Given the description of an element on the screen output the (x, y) to click on. 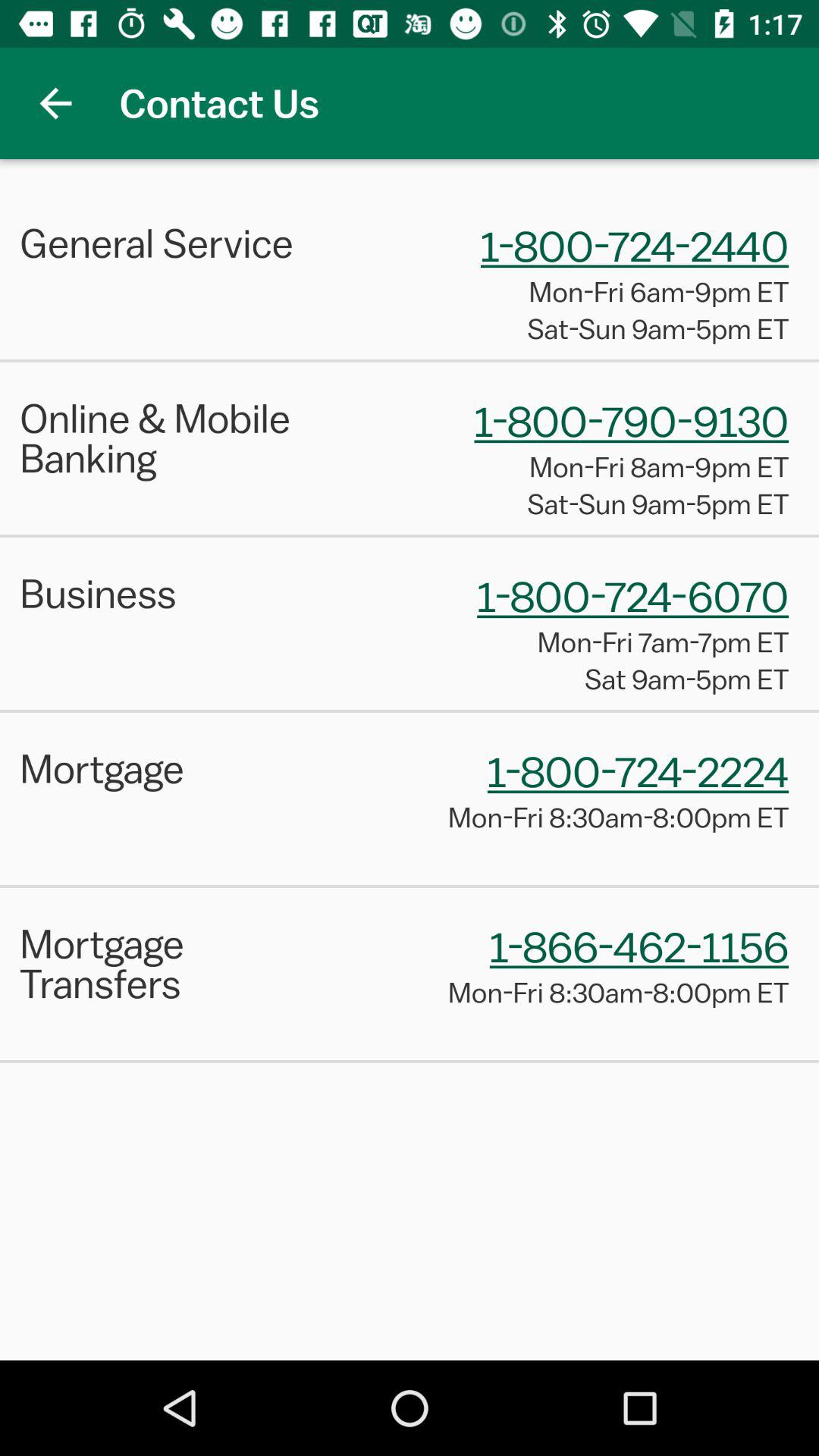
open the item below the sat 9am 5pm item (409, 710)
